Given the description of an element on the screen output the (x, y) to click on. 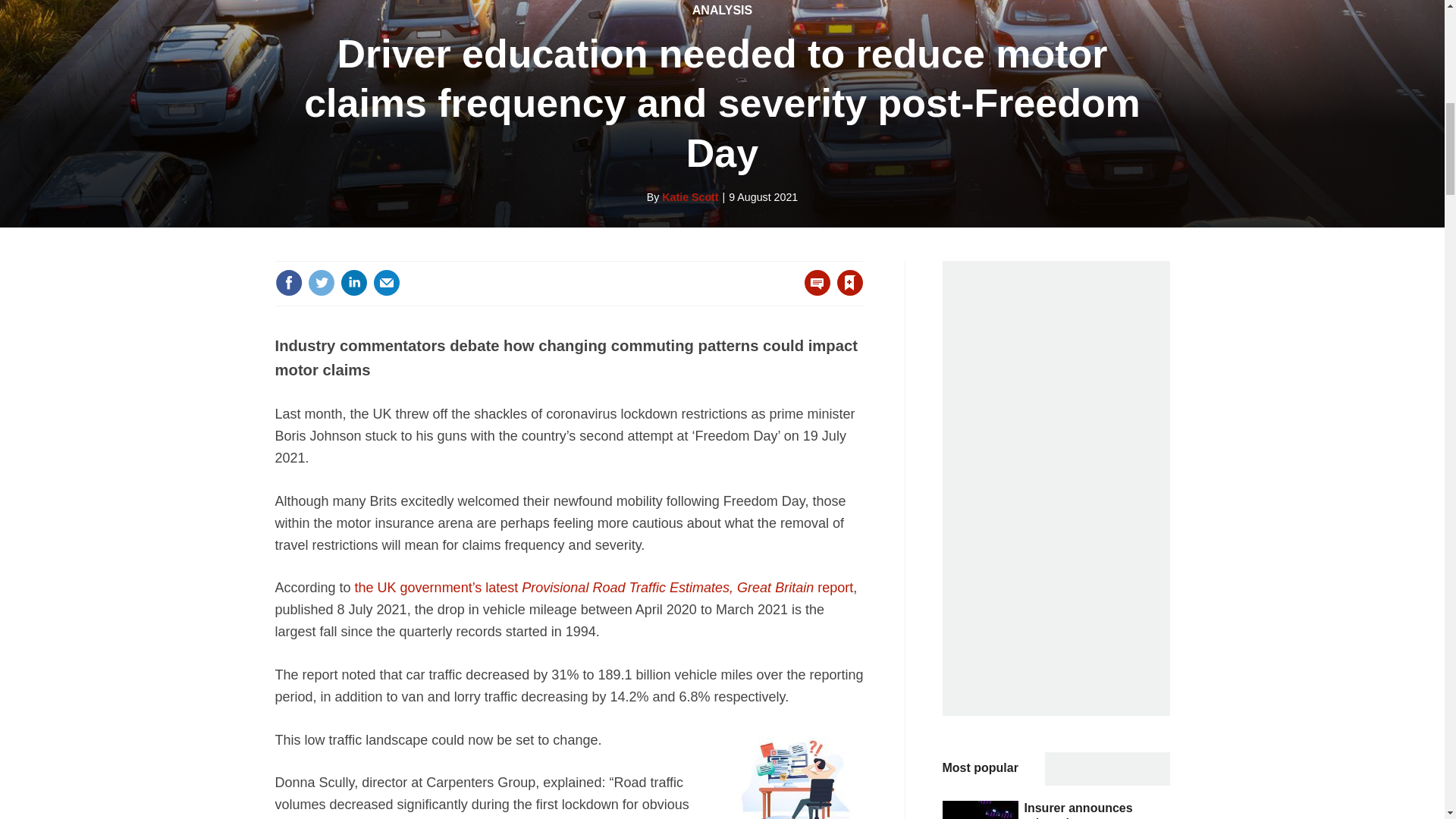
Share this on Linked in (352, 282)
Email this article (386, 282)
Share this on Twitter (320, 282)
No comments (812, 291)
Share this on Facebook (288, 282)
